Given the description of an element on the screen output the (x, y) to click on. 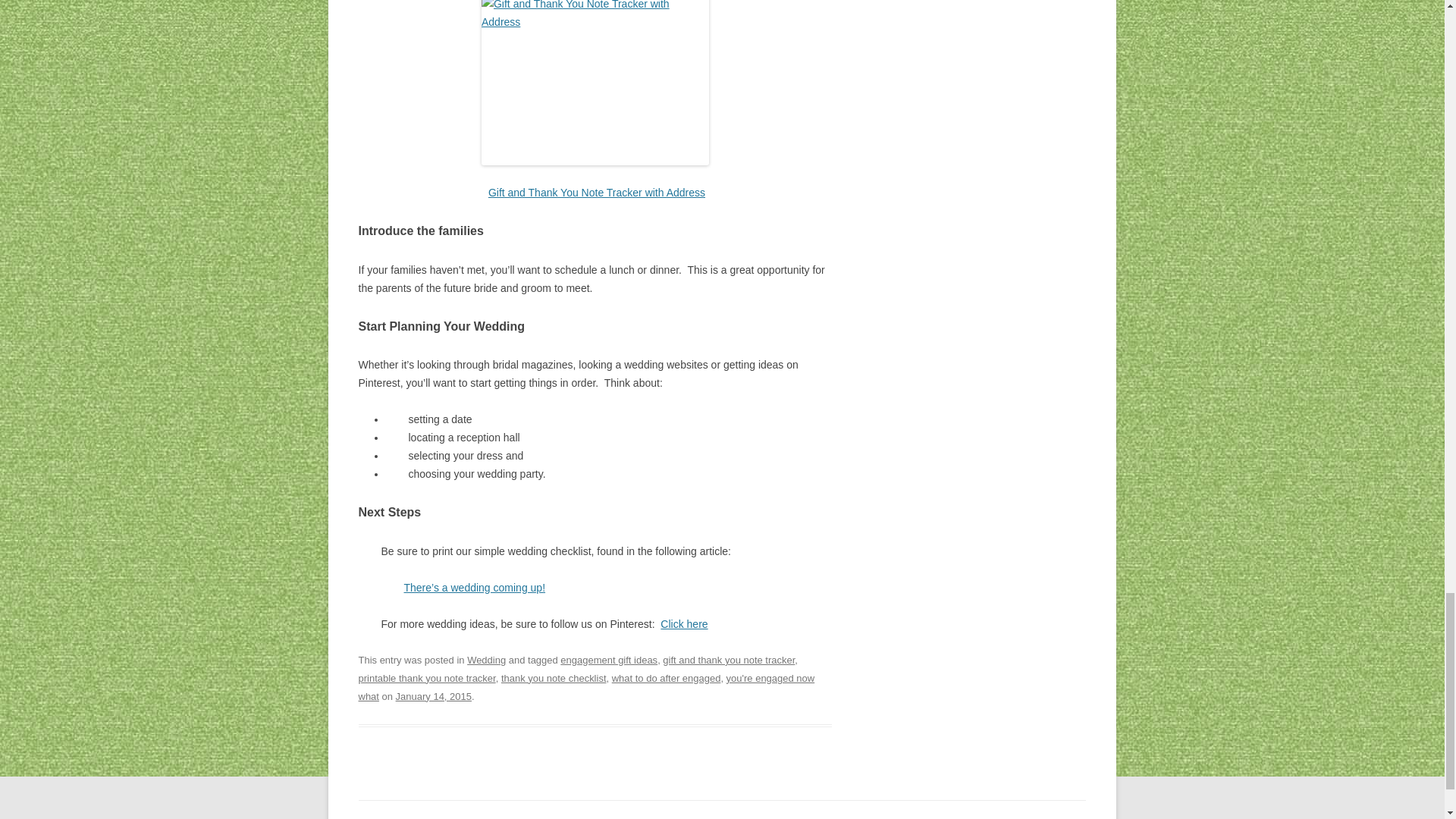
printable thank you note tracker (426, 677)
Wedding (486, 659)
1:02 pm (433, 696)
you're engaged now what (585, 686)
gift and thank you note tracker (728, 659)
what to do after engaged (665, 677)
engagement gift ideas (609, 659)
Click here (684, 623)
January 14, 2015 (433, 696)
Gift and Thank You Note Tracker with Address (595, 192)
